Given the description of an element on the screen output the (x, y) to click on. 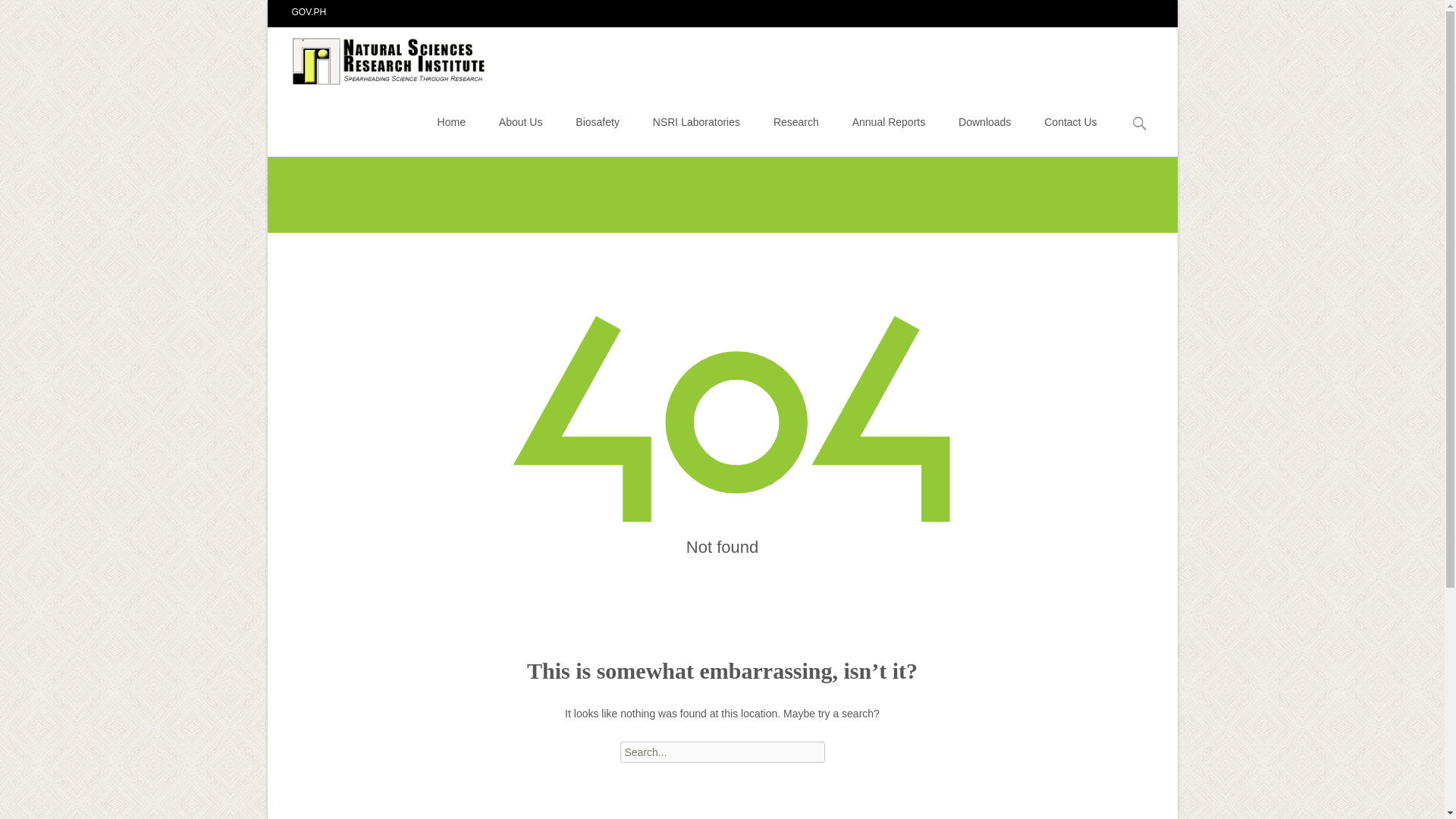
NSRI Laboratories (695, 121)
Search (34, 14)
Natural Sciences Research Institute (378, 57)
Annual Reports (888, 121)
GOV.PH (308, 11)
Search for: (1139, 123)
Search (18, 14)
Search for: (722, 752)
